Given the description of an element on the screen output the (x, y) to click on. 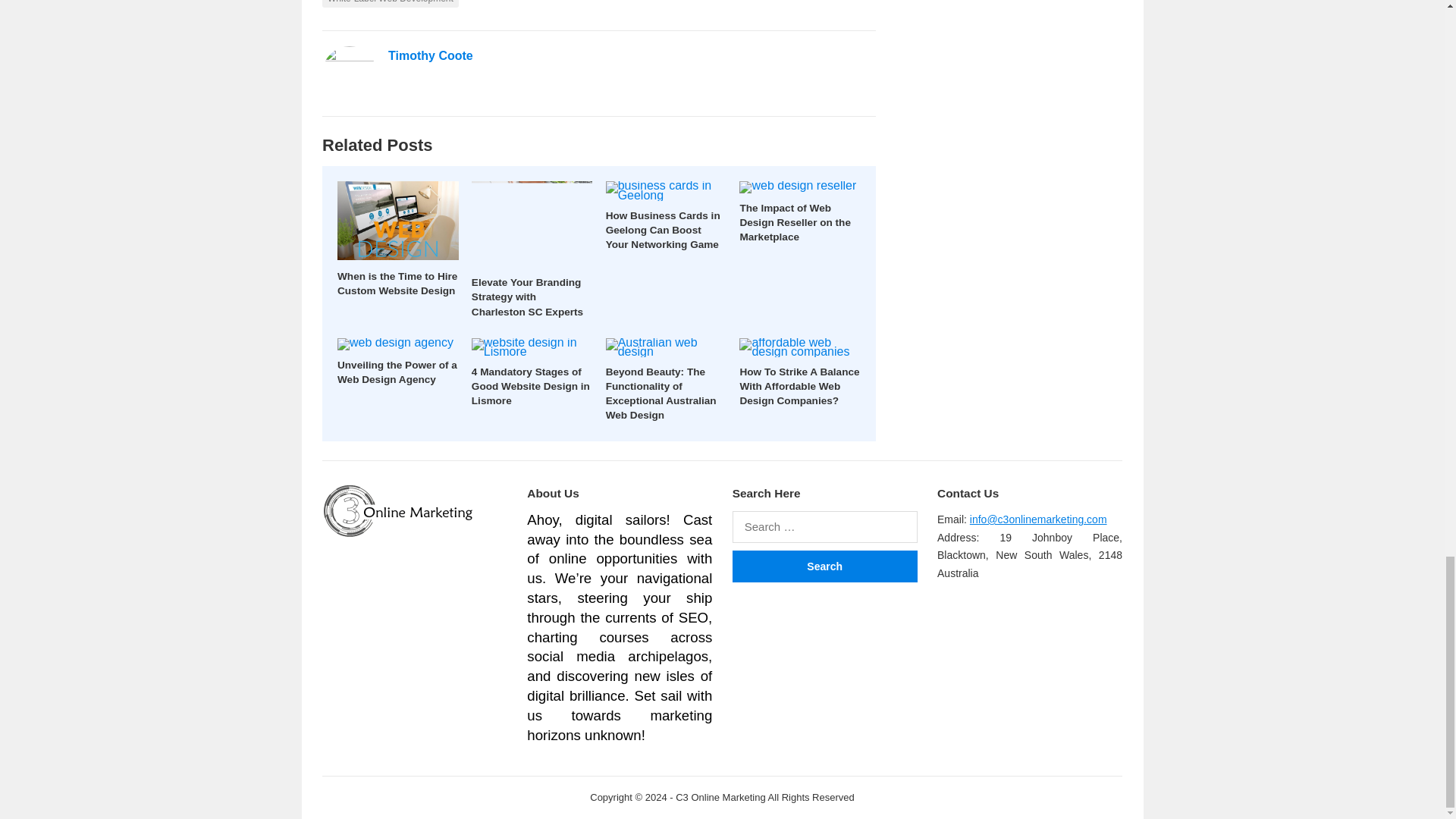
Elevate Your Branding Strategy with Charleston SC Experts (527, 296)
The Impact of Web Design Reseller on the Marketplace (794, 222)
Timothy Coote (430, 55)
When is the Time to Hire Custom Website Design (397, 283)
Search (824, 566)
Search (824, 566)
Unveiling the Power of a Web Design Agency (397, 371)
How Business Cards in Geelong Can Boost Your Networking Game (662, 229)
White-Label Web Development (389, 3)
